Given the description of an element on the screen output the (x, y) to click on. 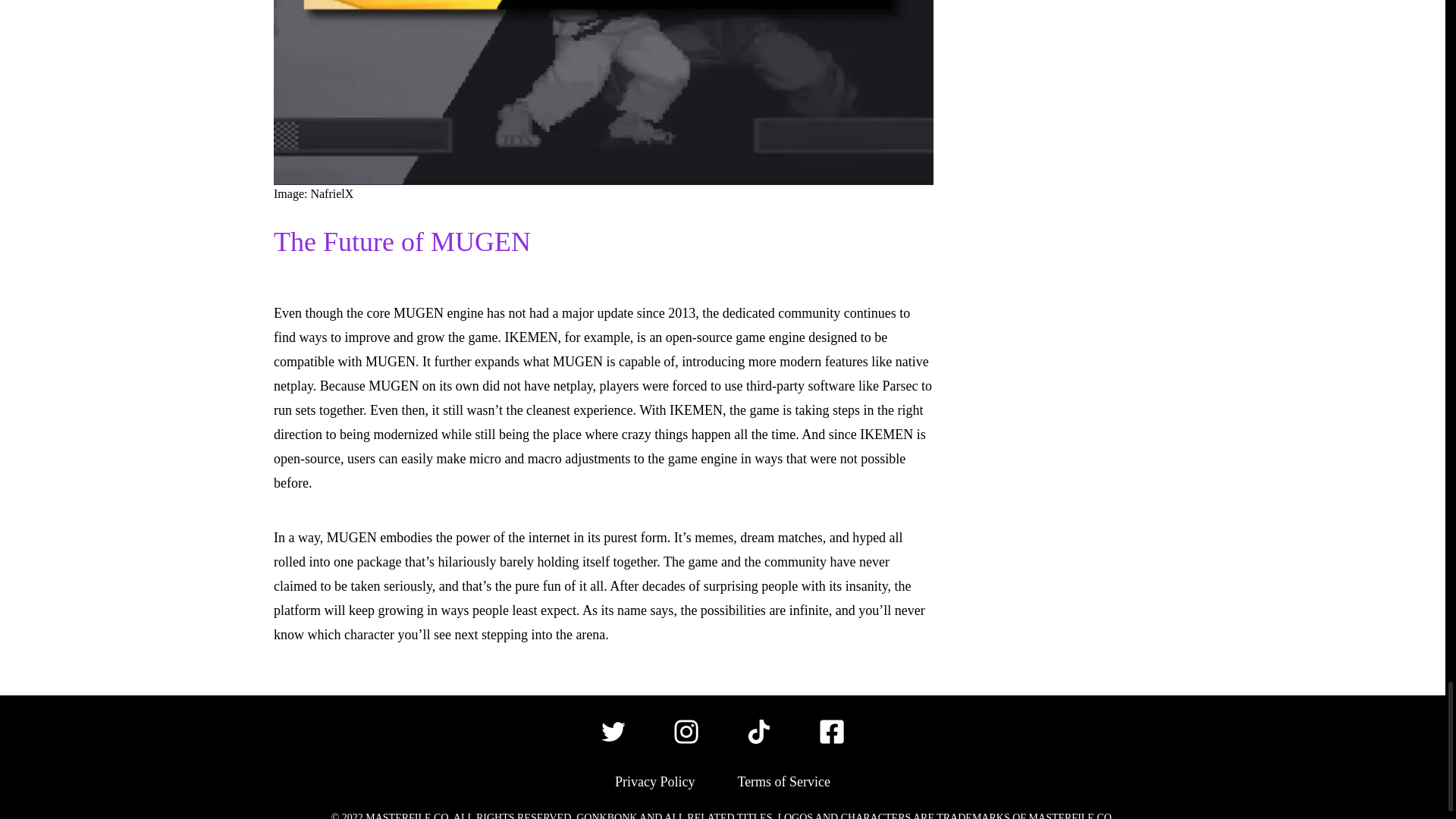
Terms of Service (782, 781)
Privacy Policy (654, 781)
